Given the description of an element on the screen output the (x, y) to click on. 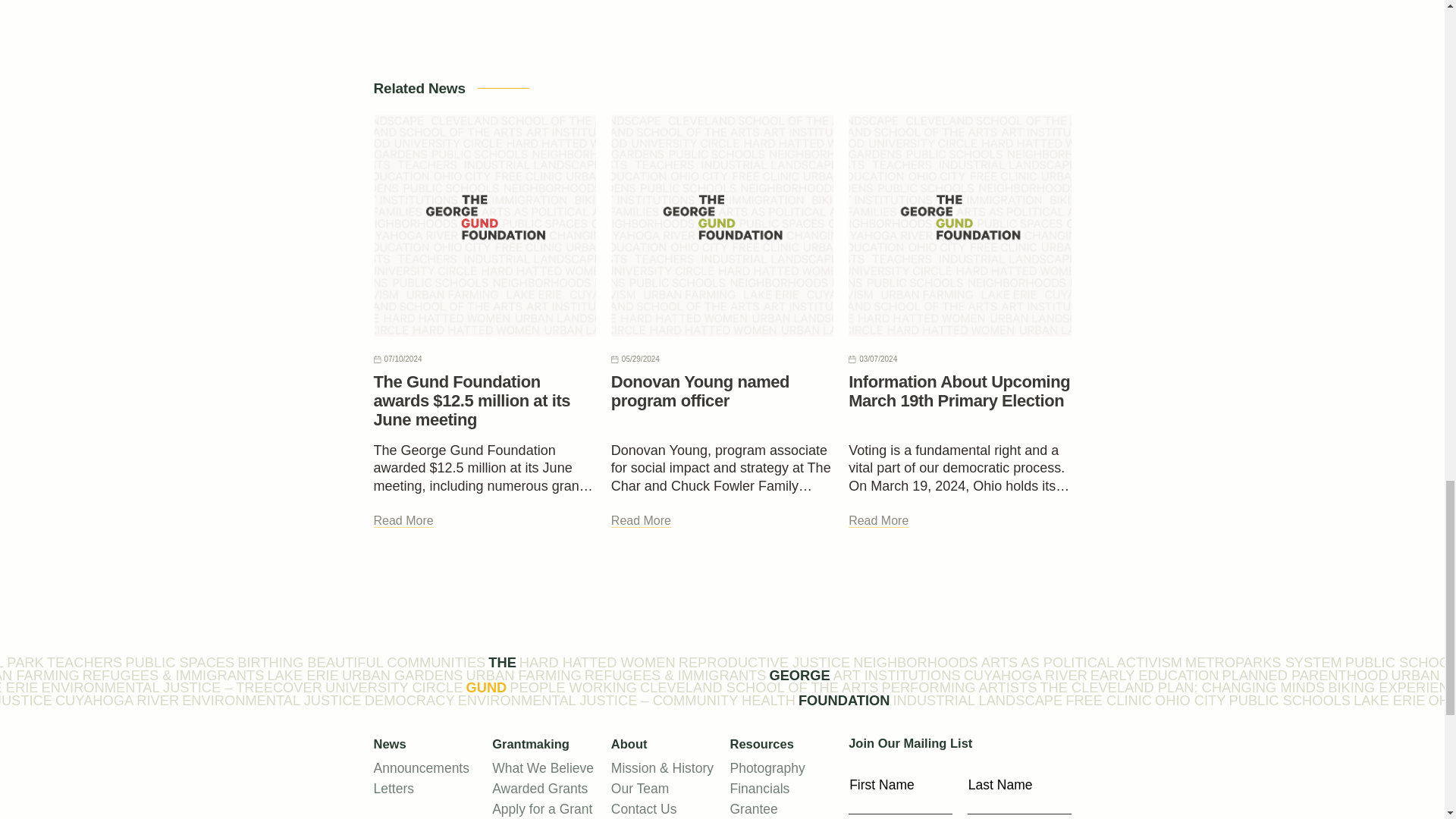
Information About Upcoming March 19th Primary Election (959, 391)
TEACHERS (84, 662)
REPRODUCTIVE JUSTICE (764, 662)
NEIGHBORHOODS (915, 662)
Read More (641, 520)
Donovan Young named program officer (700, 391)
Read More (402, 520)
ARTS AS POLITICAL ACTIVISM (1081, 662)
METROPARKS SYSTEM (1263, 662)
BIRTHING BEAUTIFUL COMMUNITIES (360, 662)
CUYAHOGA VALLEY NATIONAL PARK (21, 662)
HARD HATTED WOMEN (597, 662)
PUBLIC SPACES (179, 662)
Read More (878, 520)
